Given the description of an element on the screen output the (x, y) to click on. 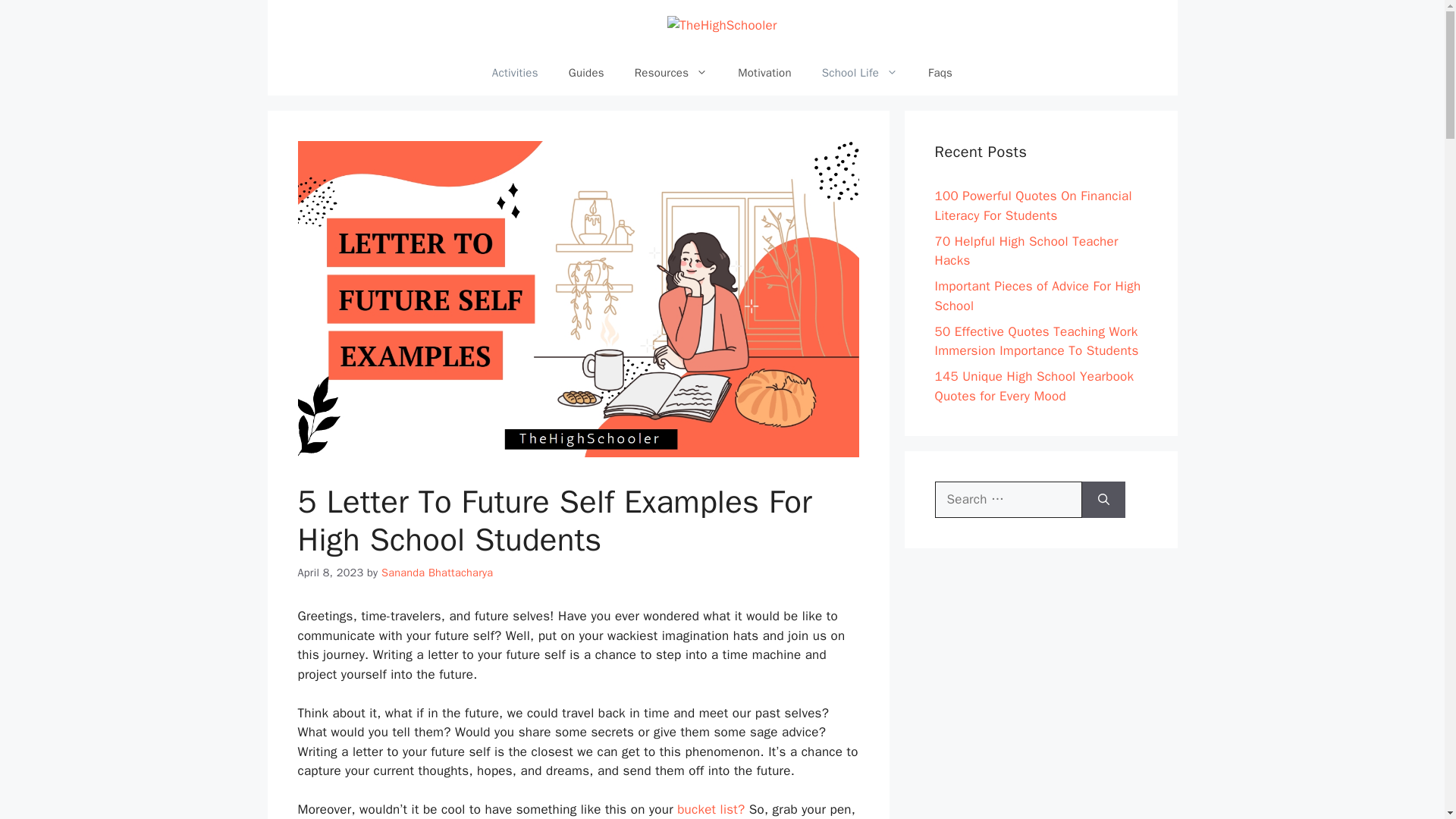
School Life (859, 72)
70 Helpful High School Teacher Hacks (1026, 251)
Guides (586, 72)
bucket list? (710, 809)
Important Pieces of Advice For High School (1037, 295)
Motivation (764, 72)
145 Unique High School Yearbook Quotes for Every Mood (1034, 386)
View all posts by Sananda Bhattacharya (437, 572)
Sananda Bhattacharya (437, 572)
100 Powerful Quotes On Financial Literacy For Students (1032, 205)
